Given the description of an element on the screen output the (x, y) to click on. 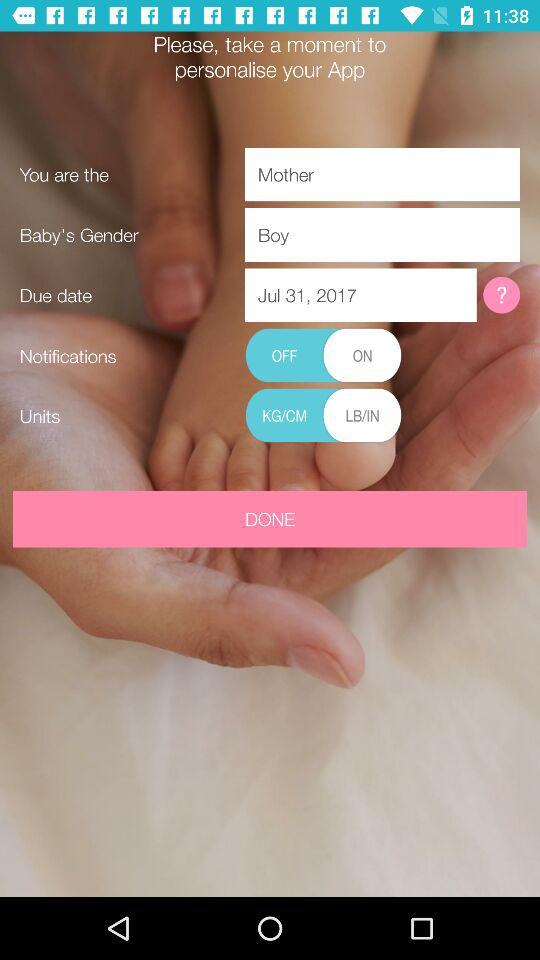
choose your choice (323, 415)
